Given the description of an element on the screen output the (x, y) to click on. 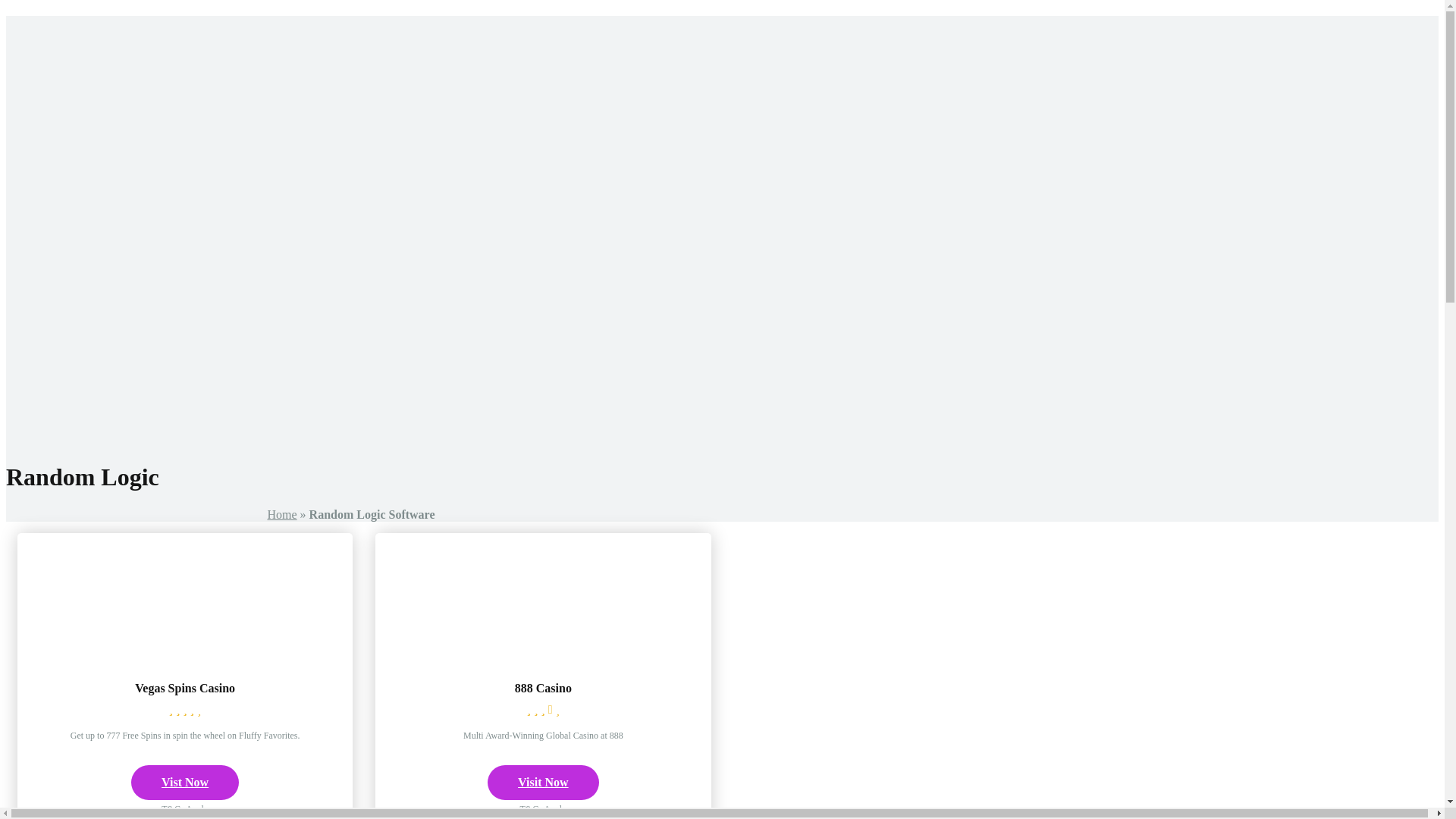
Vist Now (184, 782)
Bitcoin Cash Casinos (477, 280)
Top 20 Casinos (462, 61)
Home (281, 513)
Vegas Spins Casino (184, 653)
Crypto (411, 238)
Ethereum Casinos (469, 266)
Dogecoin Casinos (469, 307)
Litecoin Casinos (465, 294)
iOS Mobile Casinos (473, 362)
By Country (422, 184)
High Roller Casinos (474, 89)
Mac Casinos (456, 102)
Bonuses (426, 197)
Ecogra Casinos (462, 130)
